Given the description of an element on the screen output the (x, y) to click on. 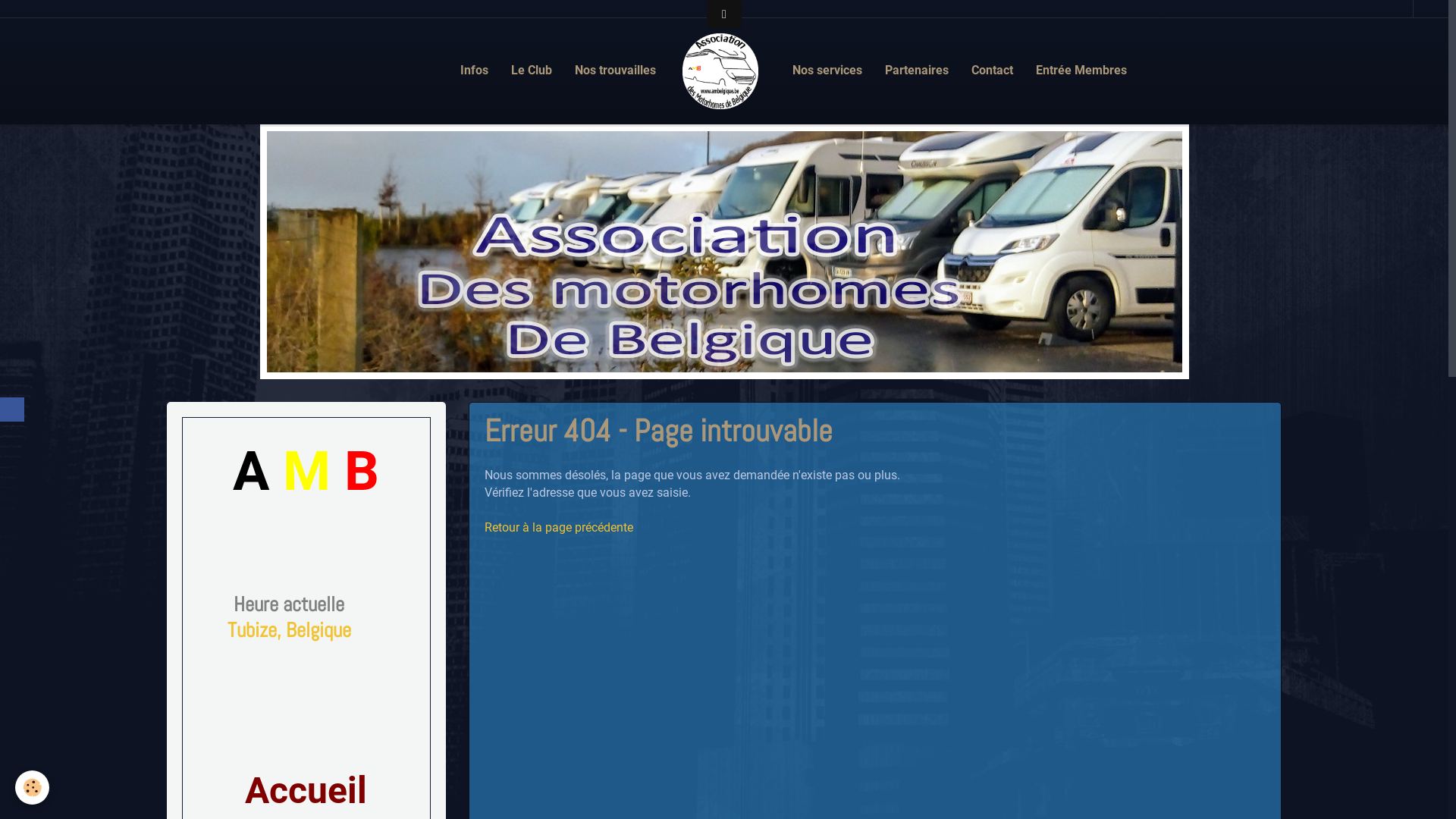
Partenaires Element type: text (916, 70)
Nos trouvailles Element type: text (615, 70)
Nos services Element type: text (827, 70)
Infos Element type: text (473, 70)
Contact Element type: text (992, 70)
Heure actuelle
Tubize, Belgique Element type: text (289, 616)
Le Club Element type: text (531, 70)
